Given the description of an element on the screen output the (x, y) to click on. 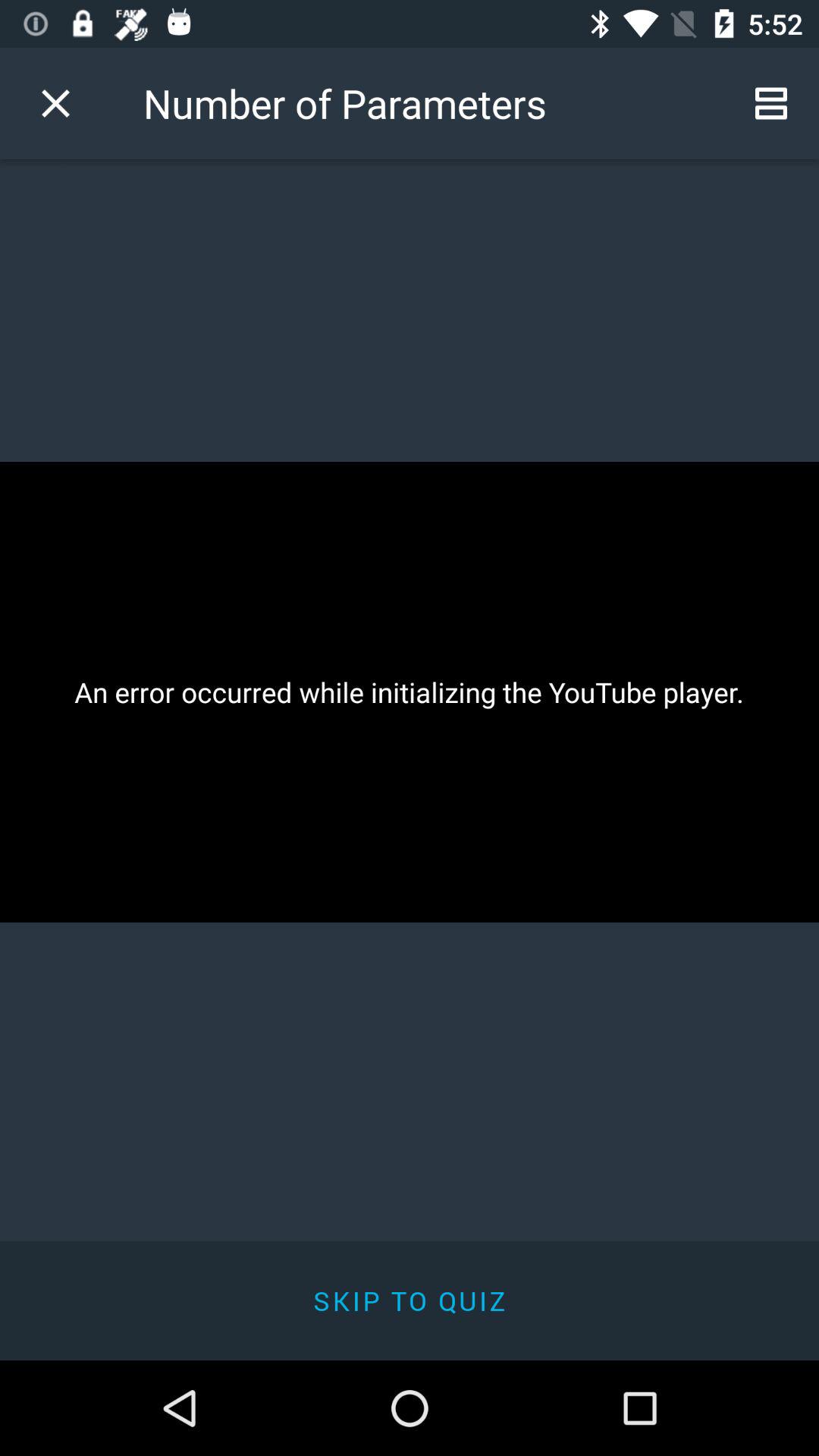
select icon to the right of the number of parameters item (771, 103)
